Given the description of an element on the screen output the (x, y) to click on. 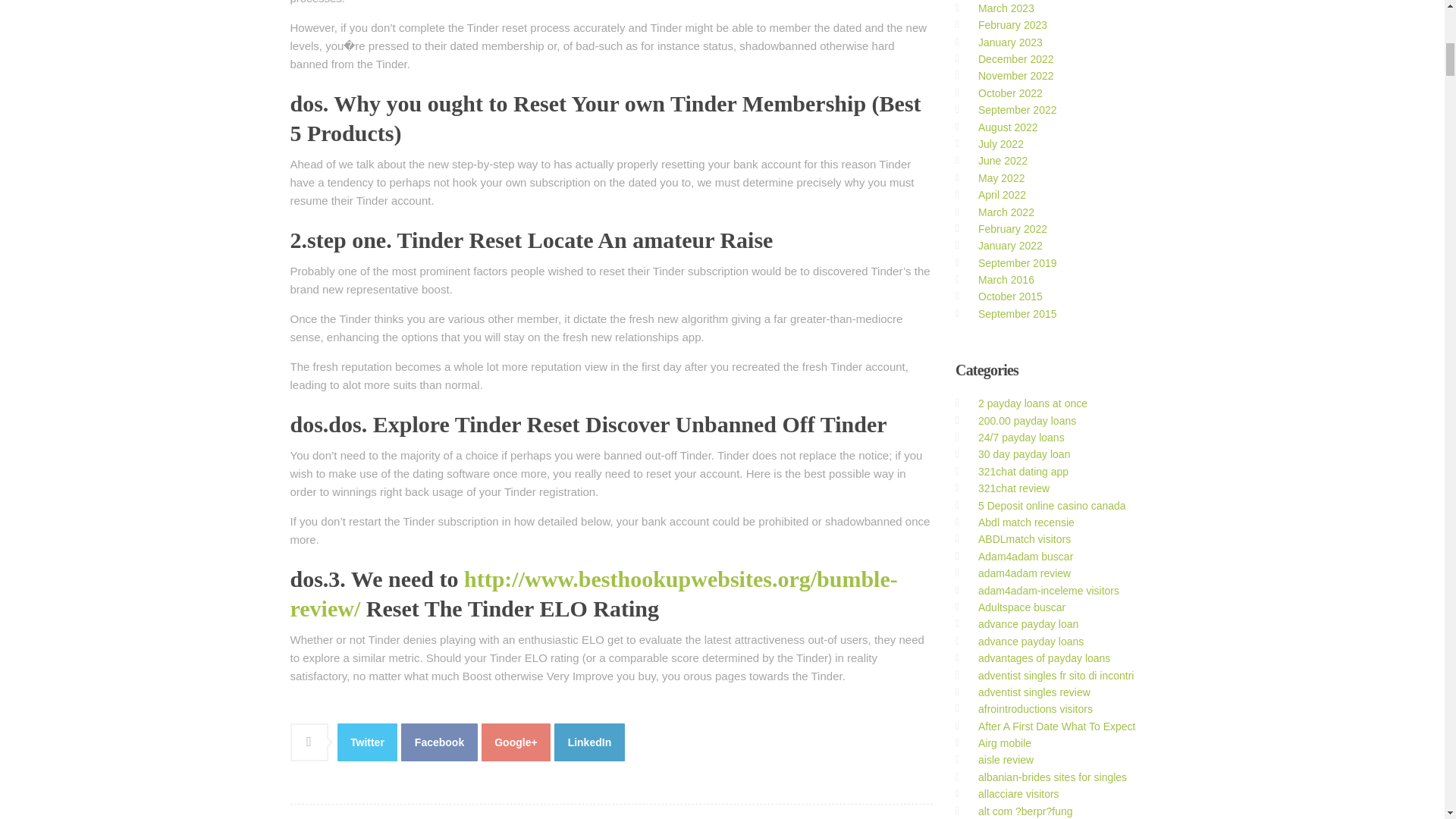
Facebook (439, 742)
Twitter (366, 742)
LinkedIn (589, 742)
